Given the description of an element on the screen output the (x, y) to click on. 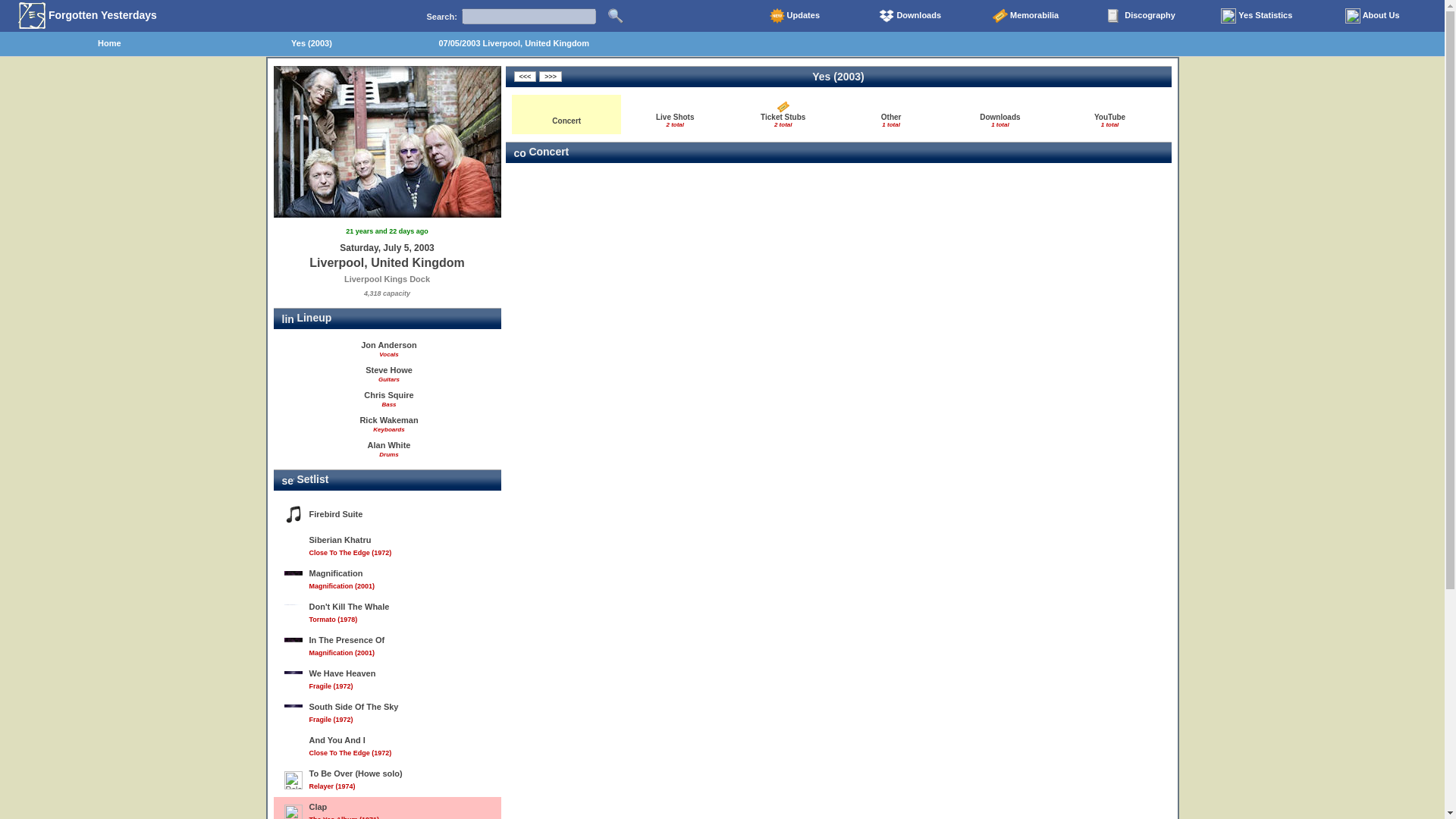
 Updates (793, 15)
Forgotten Yesterdays (891, 114)
 Yes Statistics (999, 114)
Concert (89, 15)
Firebird Suite (1256, 15)
 About Us (565, 113)
 Memorabilia (1109, 114)
 Discography (386, 513)
  Home (1371, 15)
Quick Search (1025, 15)
Forgotten Yesterdays (1140, 15)
